Given the description of an element on the screen output the (x, y) to click on. 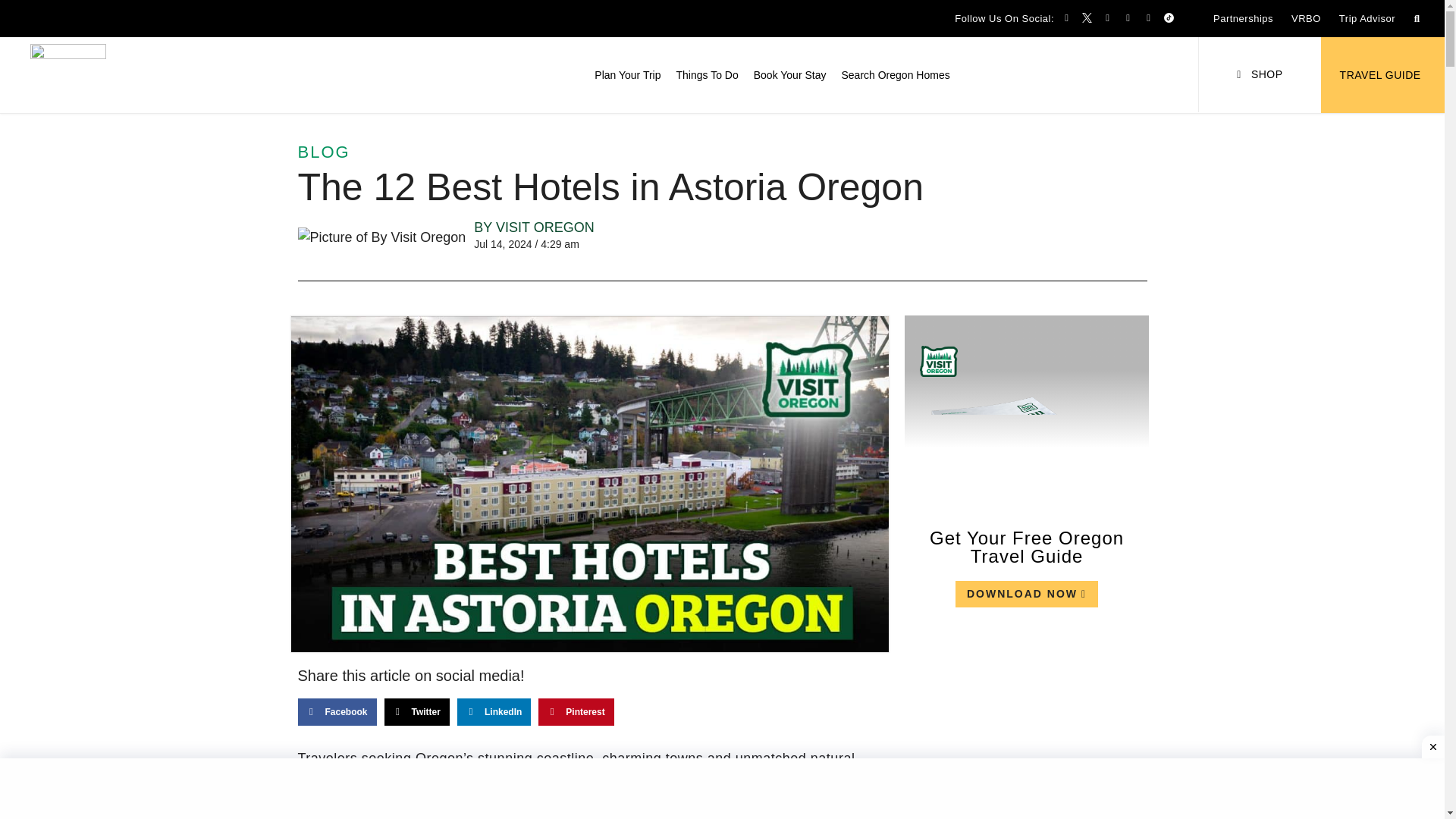
Plan Your Trip (627, 74)
Things To Do (706, 74)
Book Your Stay (789, 74)
VRBO (1306, 17)
Trip Advisor (1367, 17)
Partnerships (1243, 17)
